Given the description of an element on the screen output the (x, y) to click on. 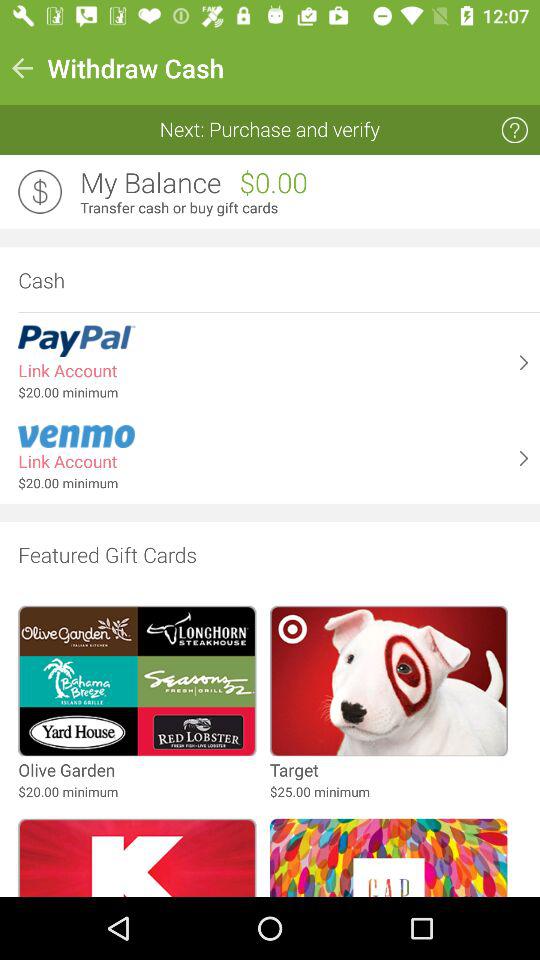
swipe to the my balance (150, 183)
